Given the description of an element on the screen output the (x, y) to click on. 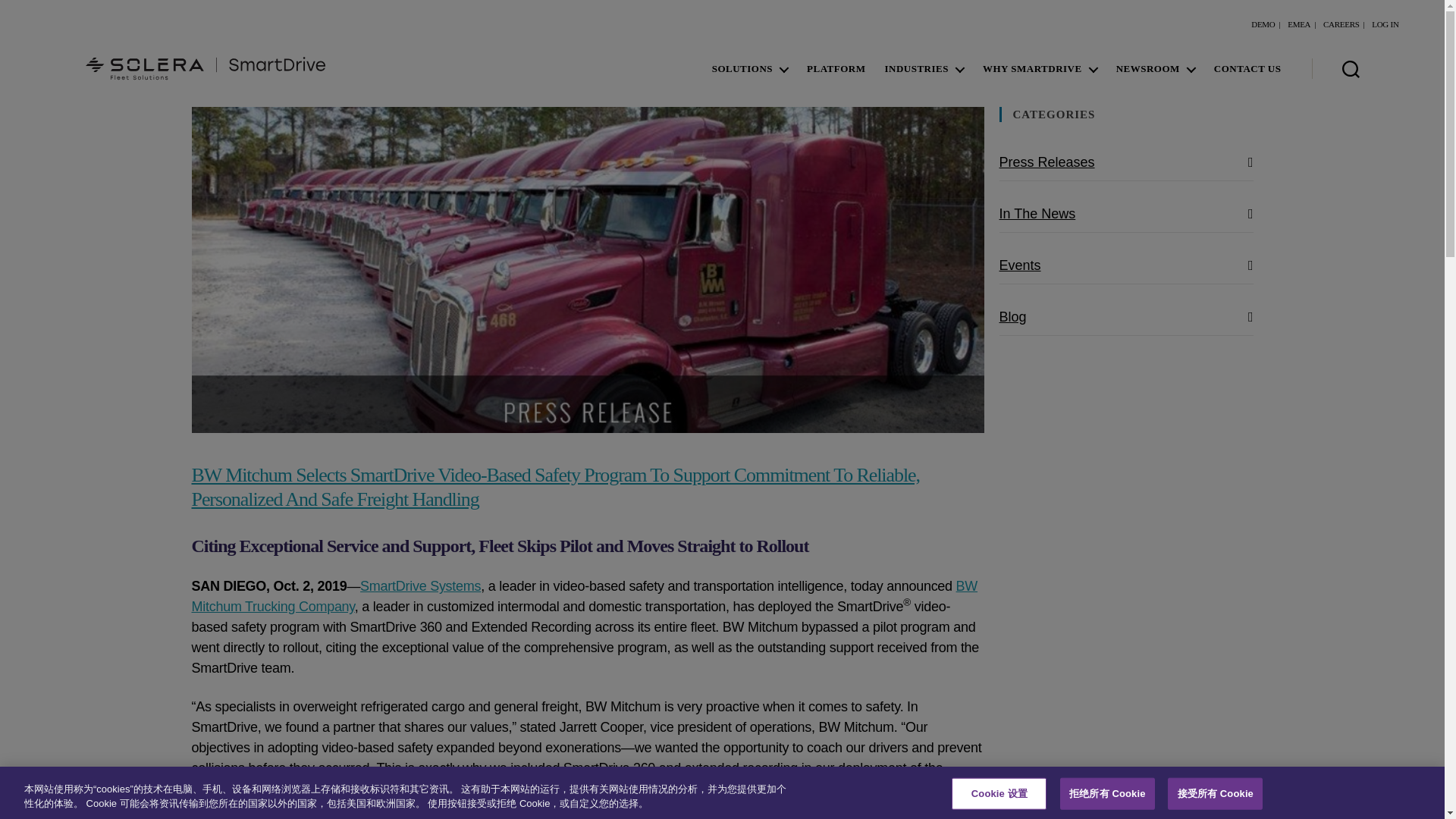
CAREERS (1341, 23)
WHY SMARTDRIVE (1039, 68)
EMEA (1298, 23)
Platform (835, 68)
Industries (922, 68)
PLATFORM (835, 68)
LOG IN (1384, 23)
CONTACT US (1247, 68)
NEWSROOM (1155, 68)
SOLUTIONS (749, 68)
DEMO (1262, 23)
Why SmartDrive (1039, 68)
INDUSTRIES (922, 68)
Solutions (749, 68)
